Given the description of an element on the screen output the (x, y) to click on. 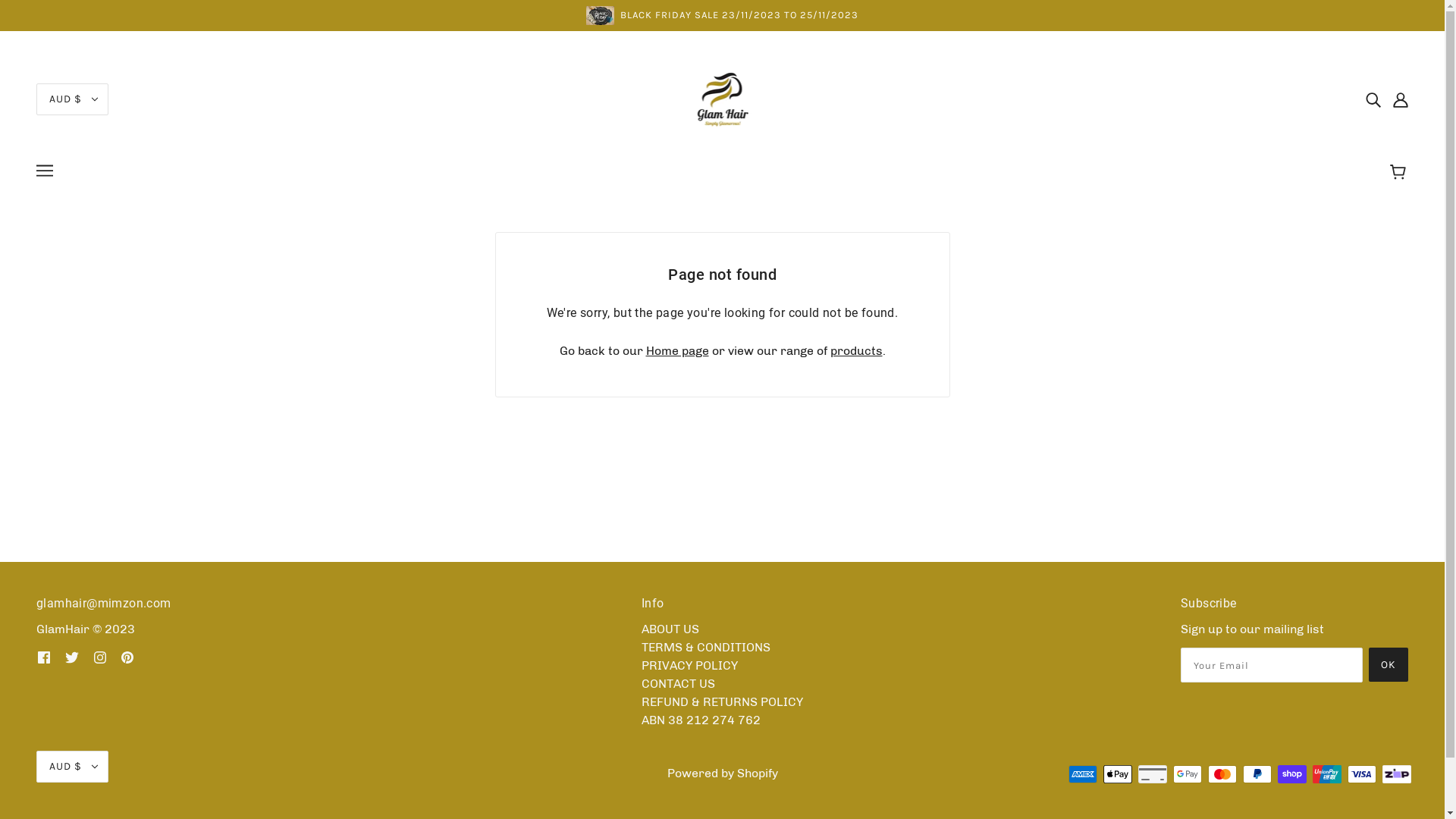
products Element type: text (855, 350)
REFUND & RETURNS POLICY Element type: text (722, 701)
PRIVACY POLICY Element type: text (689, 665)
TERMS & CONDITIONS Element type: text (705, 647)
ABOUT US Element type: text (670, 628)
CONTACT US Element type: text (678, 683)
ABN 38 212 274 762 Element type: text (700, 719)
Glam Hair AU Element type: hover (721, 98)
OK Element type: text (1388, 664)
Home page Element type: text (677, 350)
Powered by Shopify Element type: text (722, 772)
